Given the description of an element on the screen output the (x, y) to click on. 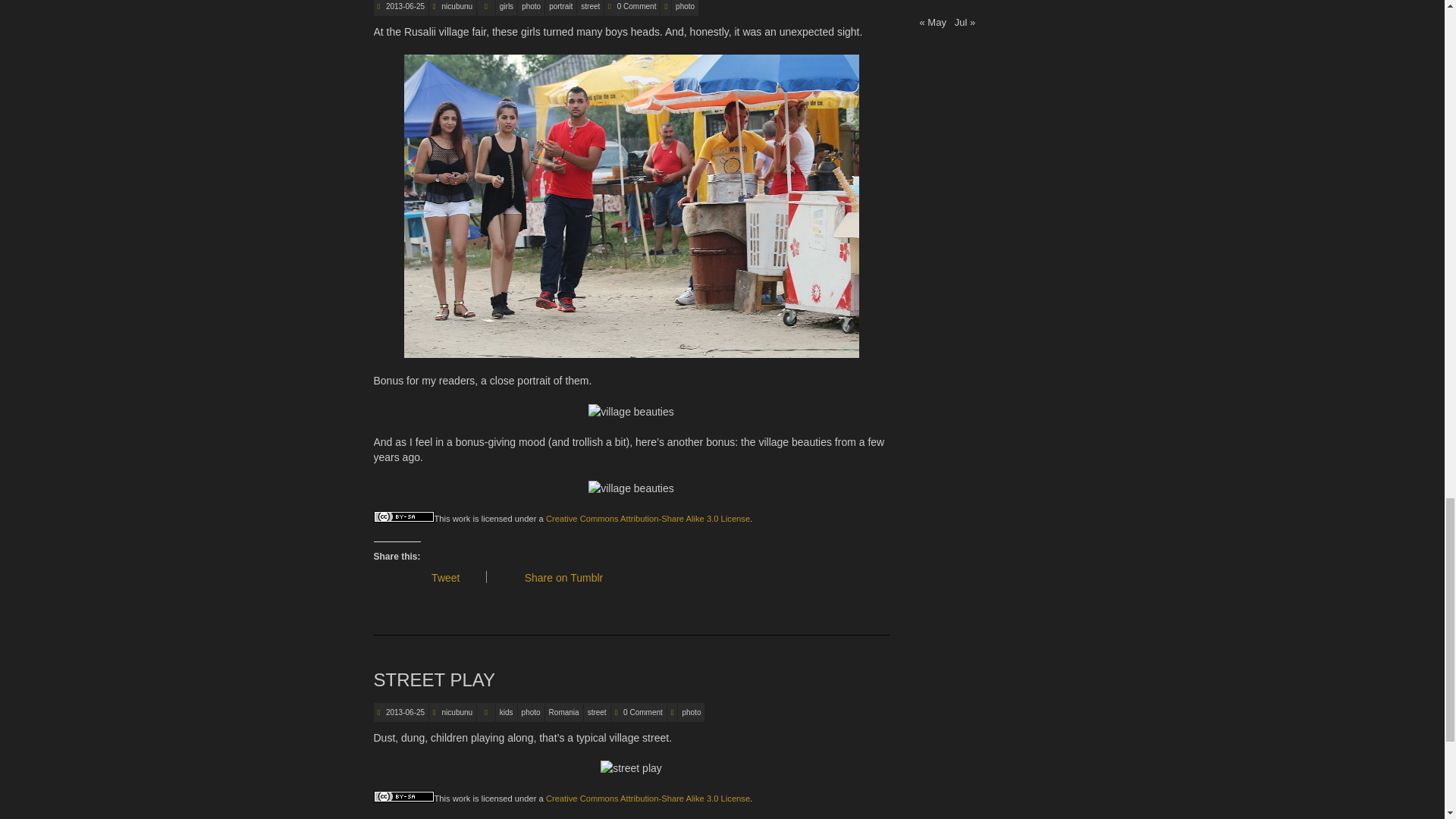
Street play (433, 679)
Street play (404, 712)
2013-06-25 (404, 6)
Category (486, 7)
View all posts by nicubunu (457, 712)
Category (486, 711)
portrait (560, 7)
View all posts by nicubunu (457, 6)
photo (531, 7)
girls (506, 7)
Village beauties (404, 6)
Share on Tumblr (568, 577)
nicubunu (457, 6)
